Given the description of an element on the screen output the (x, y) to click on. 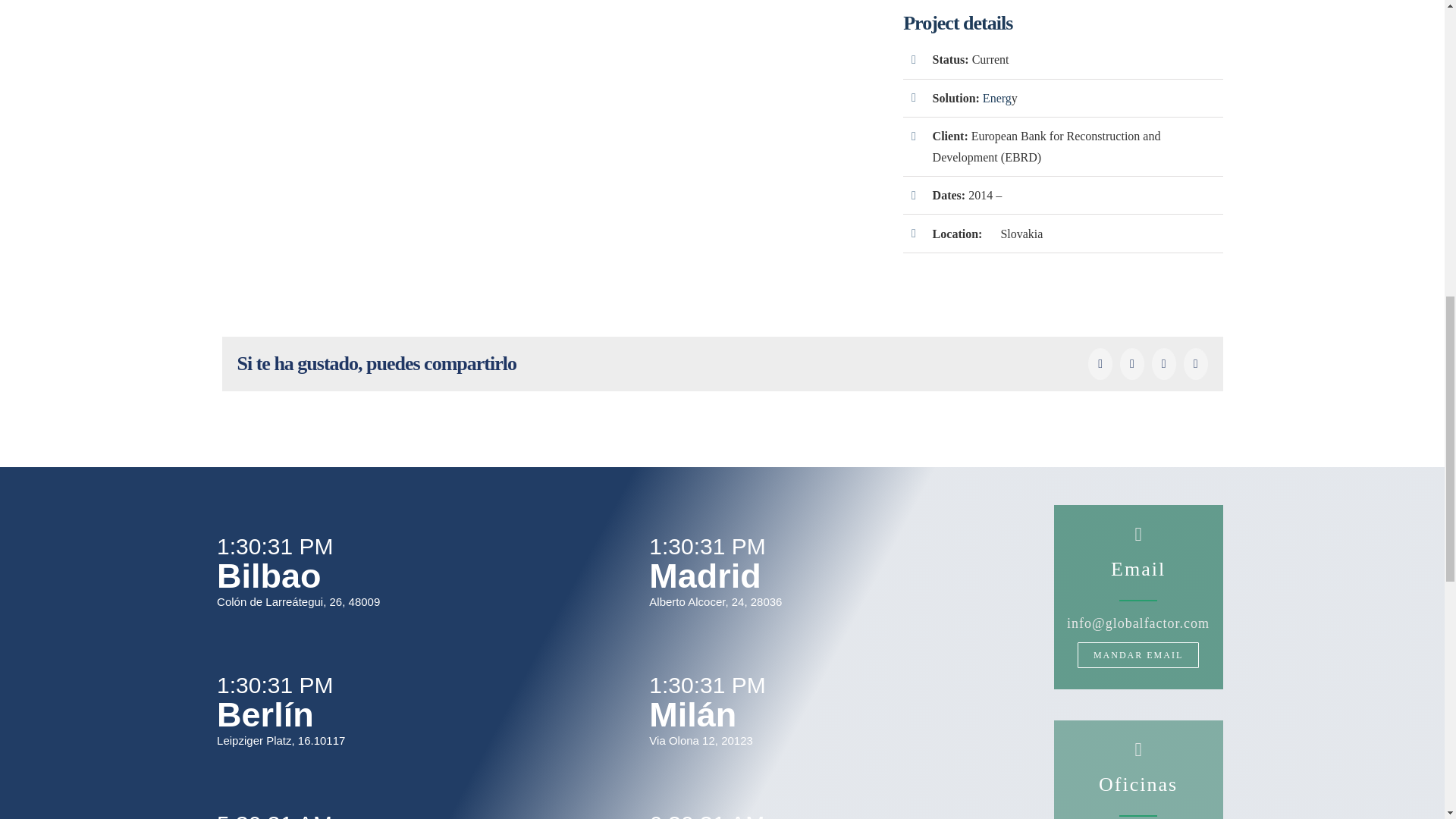
Energ (996, 97)
